Given the description of an element on the screen output the (x, y) to click on. 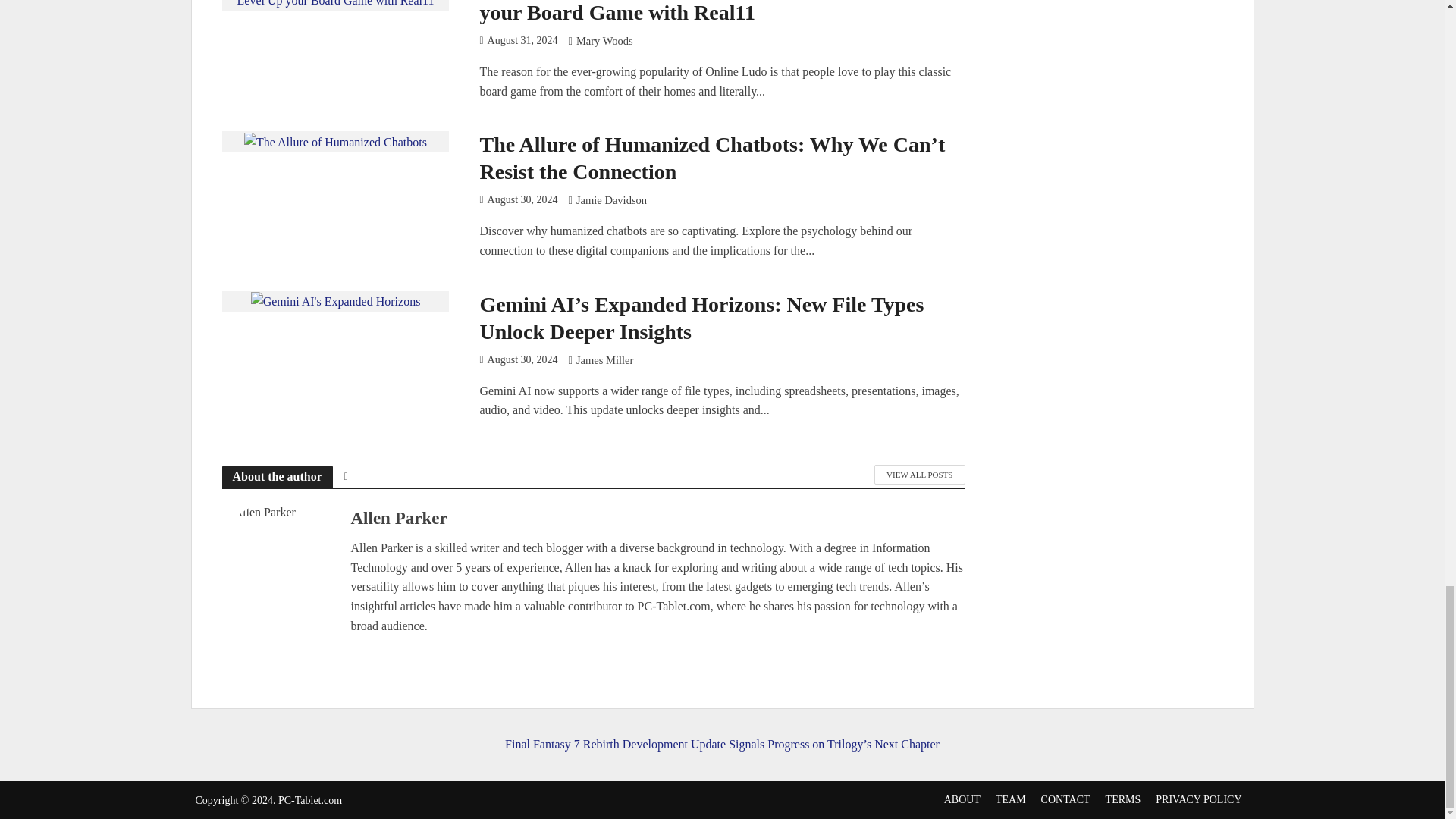
Mary Woods (604, 42)
Jamie Davidson (611, 201)
VIEW ALL POSTS (919, 474)
James Miller (604, 361)
